Given the description of an element on the screen output the (x, y) to click on. 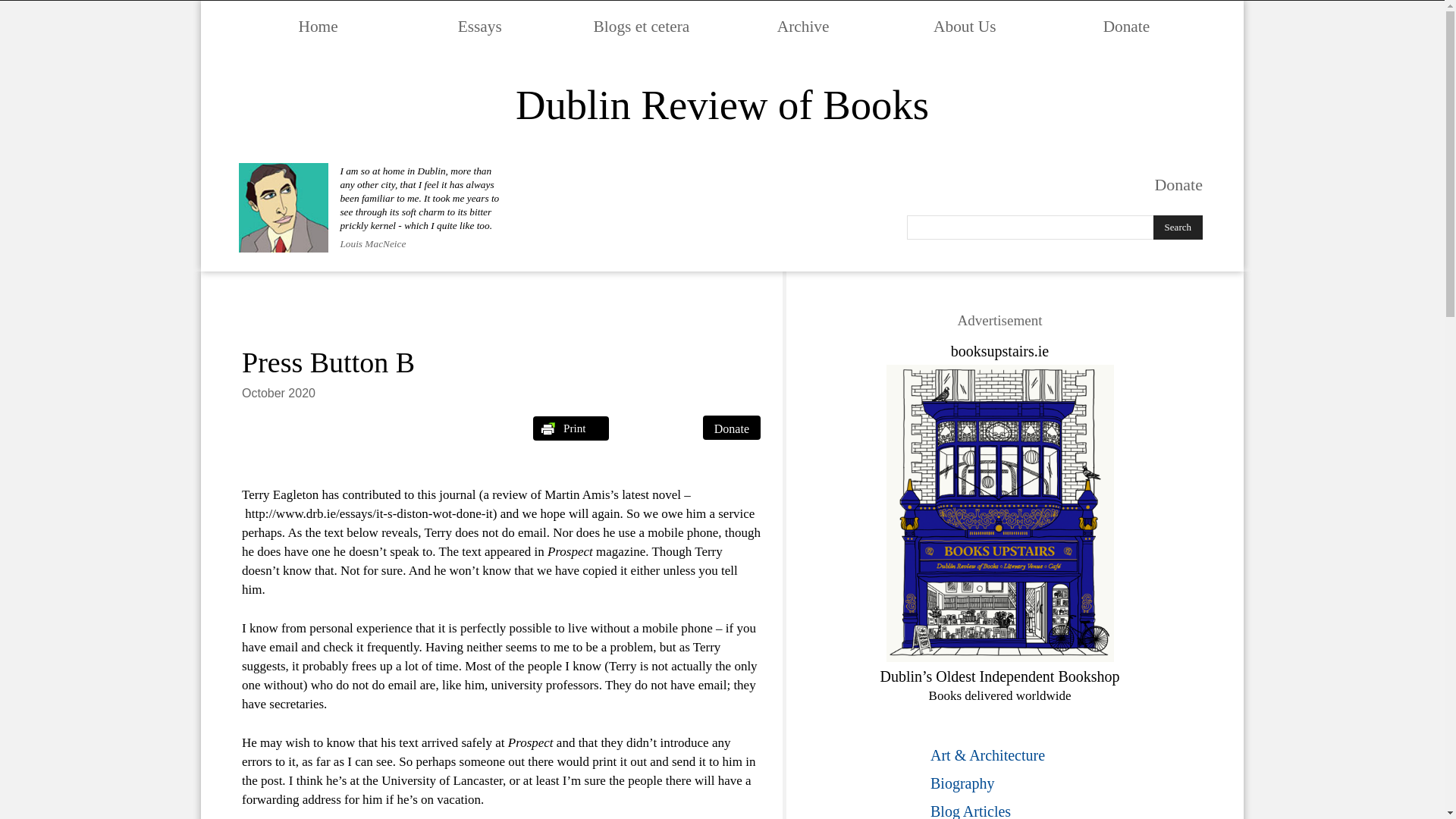
Home (318, 26)
Dublin Review of Books (722, 105)
Louis MacNeice (372, 243)
Donate (731, 427)
Blogs et cetera (641, 26)
Essays (479, 26)
Archive (803, 26)
About Us (964, 26)
Donate (1126, 26)
Search (1177, 227)
